Given the description of an element on the screen output the (x, y) to click on. 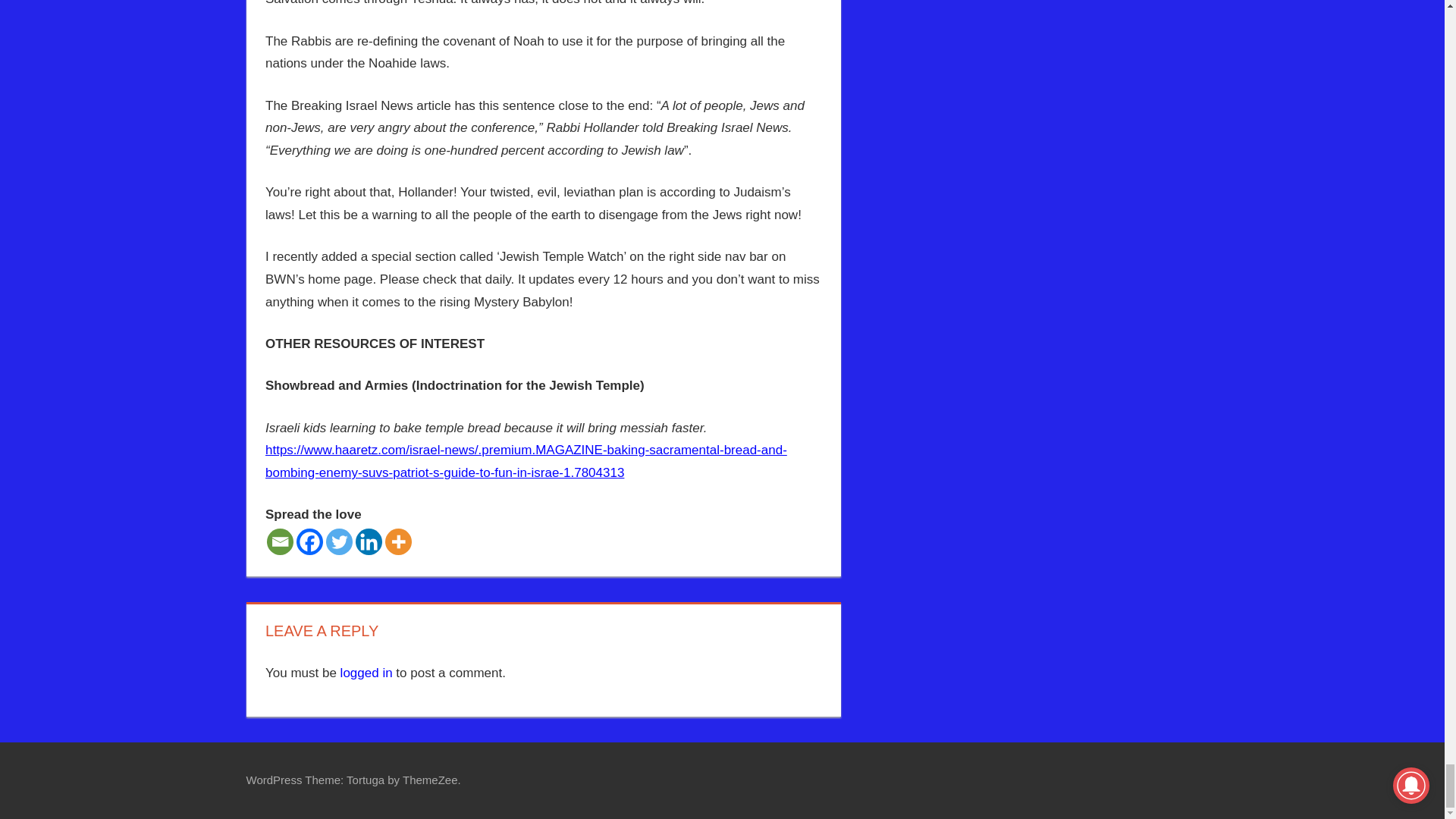
Facebook (310, 541)
Twitter (339, 541)
Email (280, 541)
More (398, 541)
Linkedin (368, 541)
